Given the description of an element on the screen output the (x, y) to click on. 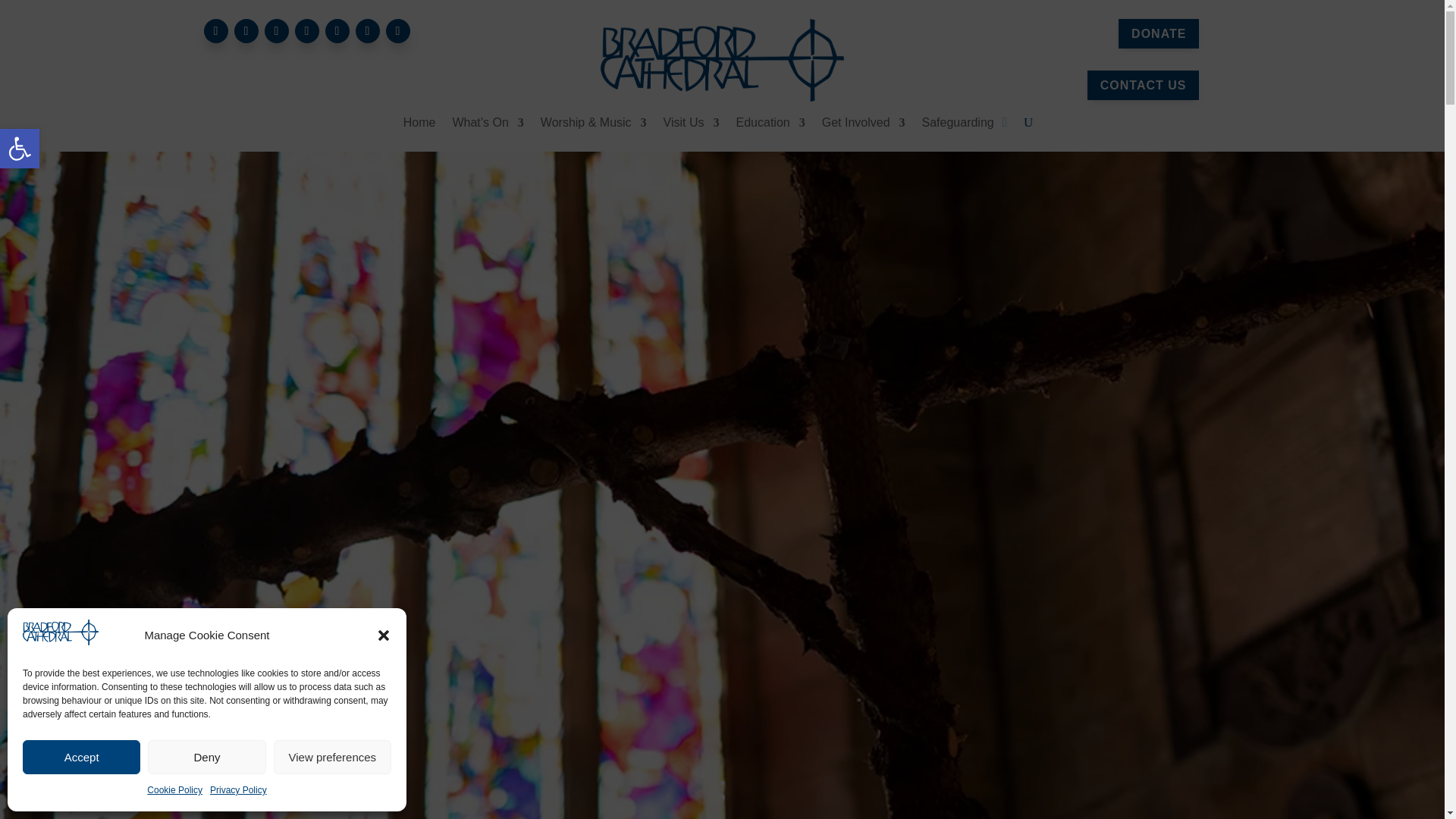
Accessibility Tools (19, 148)
Bradford Cathedral logo in blue. (721, 59)
Accept (81, 756)
Accessibility Tools (19, 148)
Follow on Facebook (215, 30)
Follow on TripAdvisor (397, 30)
Follow on Instagram (275, 30)
Privacy Policy (237, 791)
Deny (19, 148)
